Given the description of an element on the screen output the (x, y) to click on. 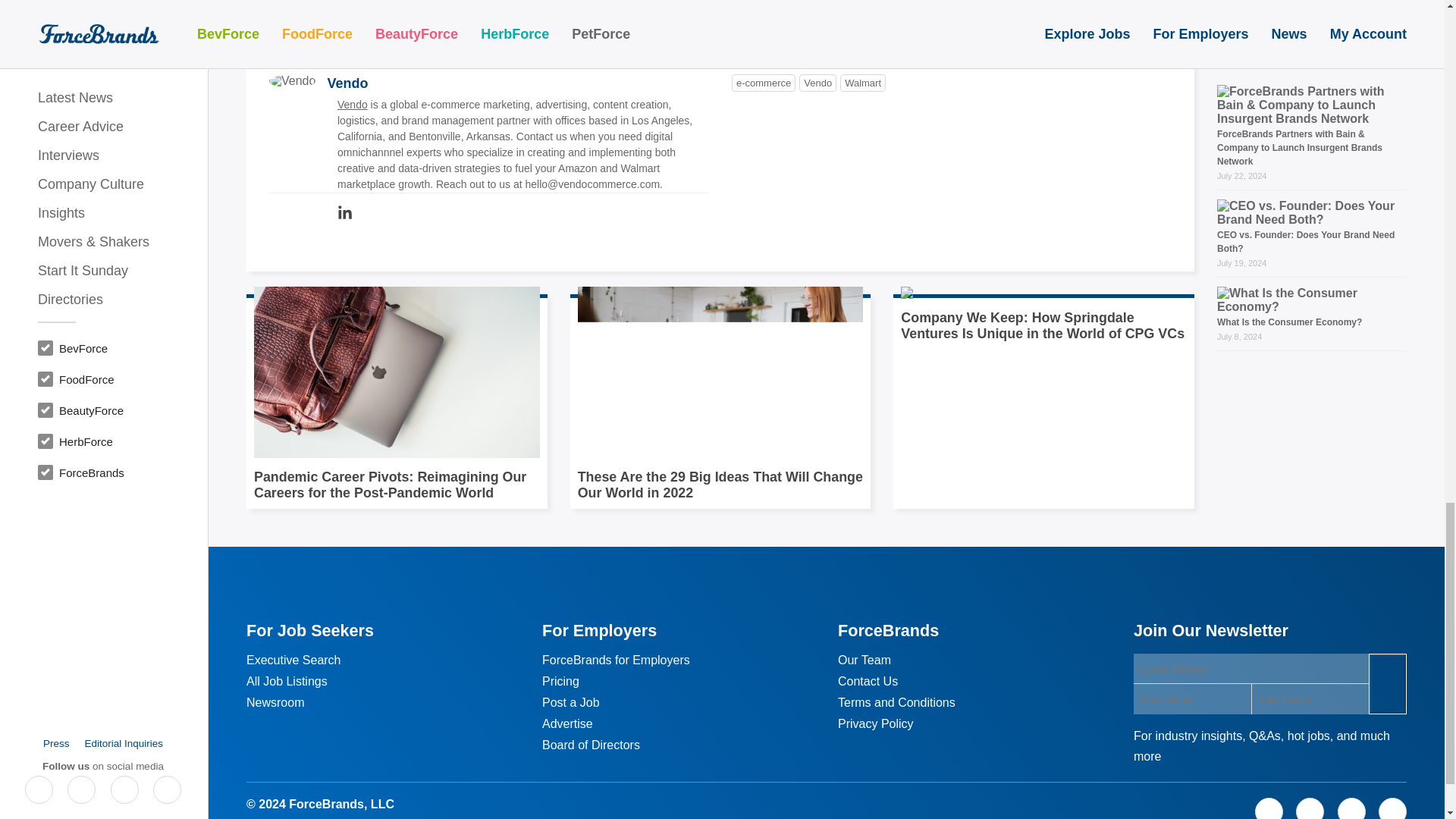
Linkedin (344, 212)
